Given the description of an element on the screen output the (x, y) to click on. 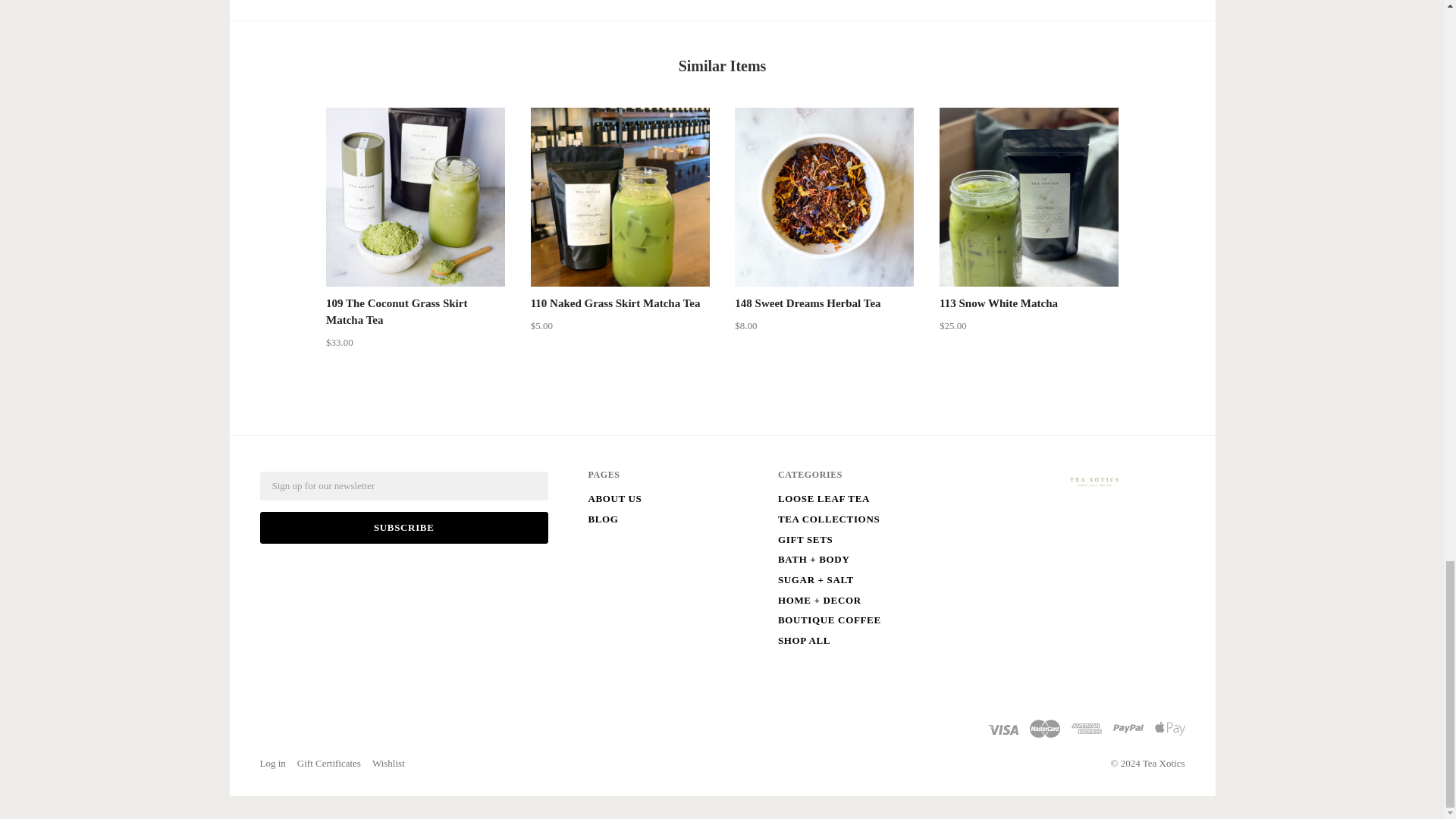
109 The Coconut Grass Skirt Matcha Tea (415, 196)
113 Snow White Matcha (998, 303)
110 Naked Grass Skirt Matcha Tea (615, 303)
110 Naked Grass Skirt Matcha Tea (620, 196)
148 Sweet Dreams Herbal Tea (807, 303)
113 Snow White Matcha (1028, 196)
148 Sweet Dreams Herbal Tea (824, 196)
Subscribe (403, 527)
109 The Coconut Grass Skirt Matcha Tea (396, 311)
